Given the description of an element on the screen output the (x, y) to click on. 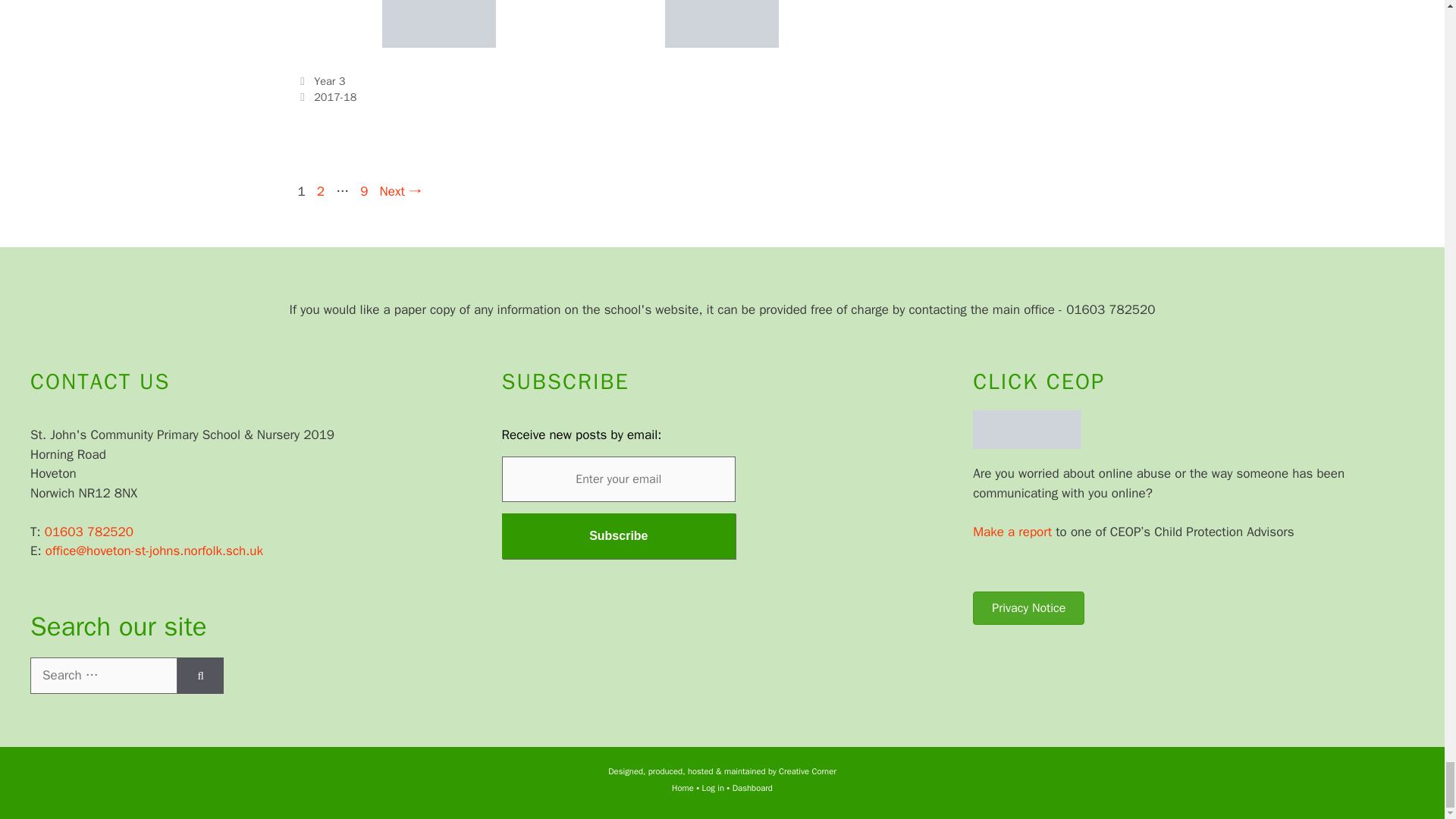
Search for: (103, 675)
Subscribe (618, 535)
Click to visit the Creative Corner website (806, 770)
Back to Home Page (682, 787)
Wordpress Dashboard (752, 787)
Login (712, 787)
